Given the description of an element on the screen output the (x, y) to click on. 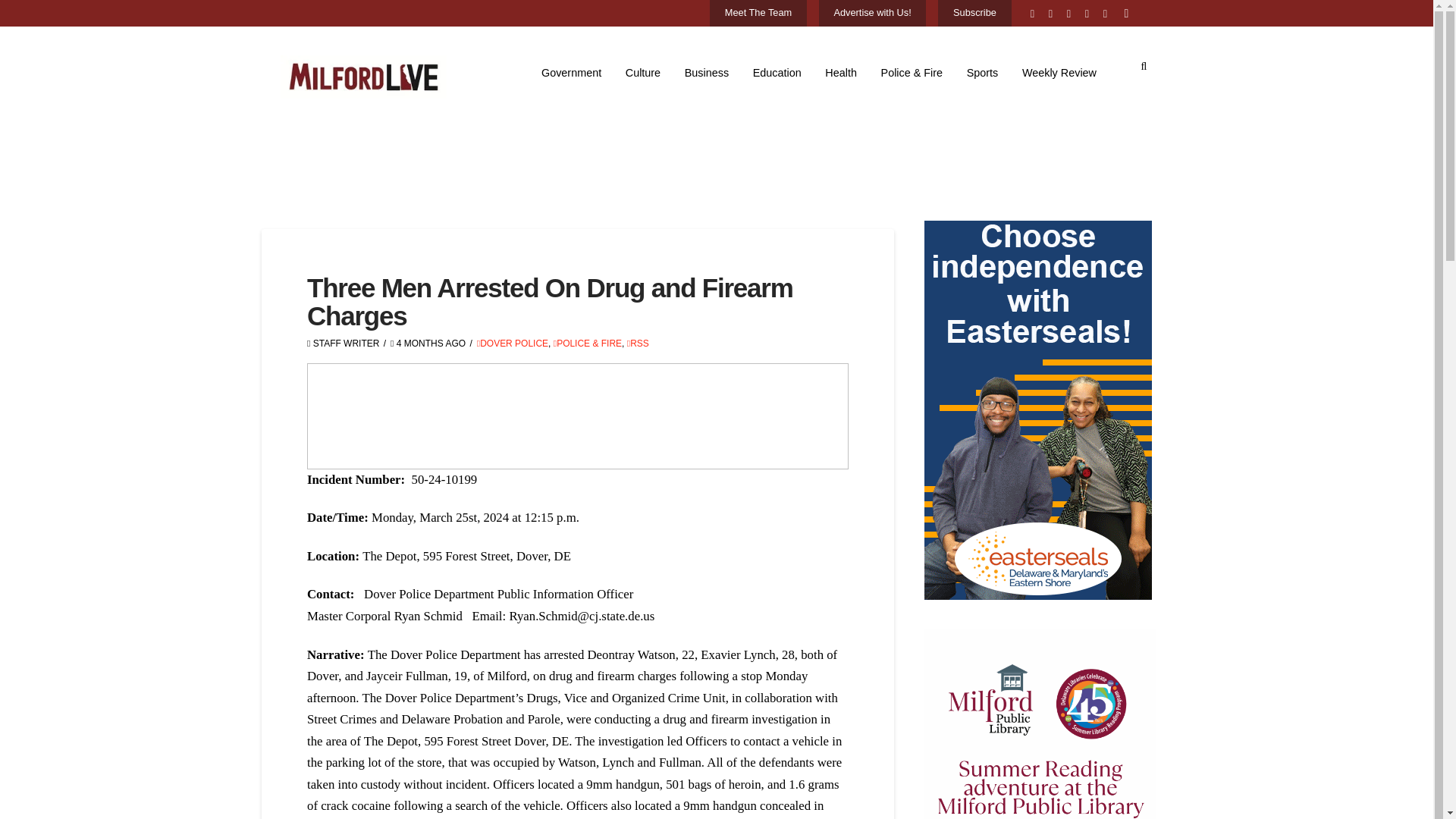
Meet The Team (758, 14)
Advertise with Us! (872, 14)
Government (570, 72)
Culture (642, 72)
DOVER POLICE (512, 343)
Sports (982, 72)
Education (777, 72)
Health (841, 72)
Weekly Review (1059, 72)
Subscribe (973, 14)
Business (706, 72)
RSS (638, 343)
